Given the description of an element on the screen output the (x, y) to click on. 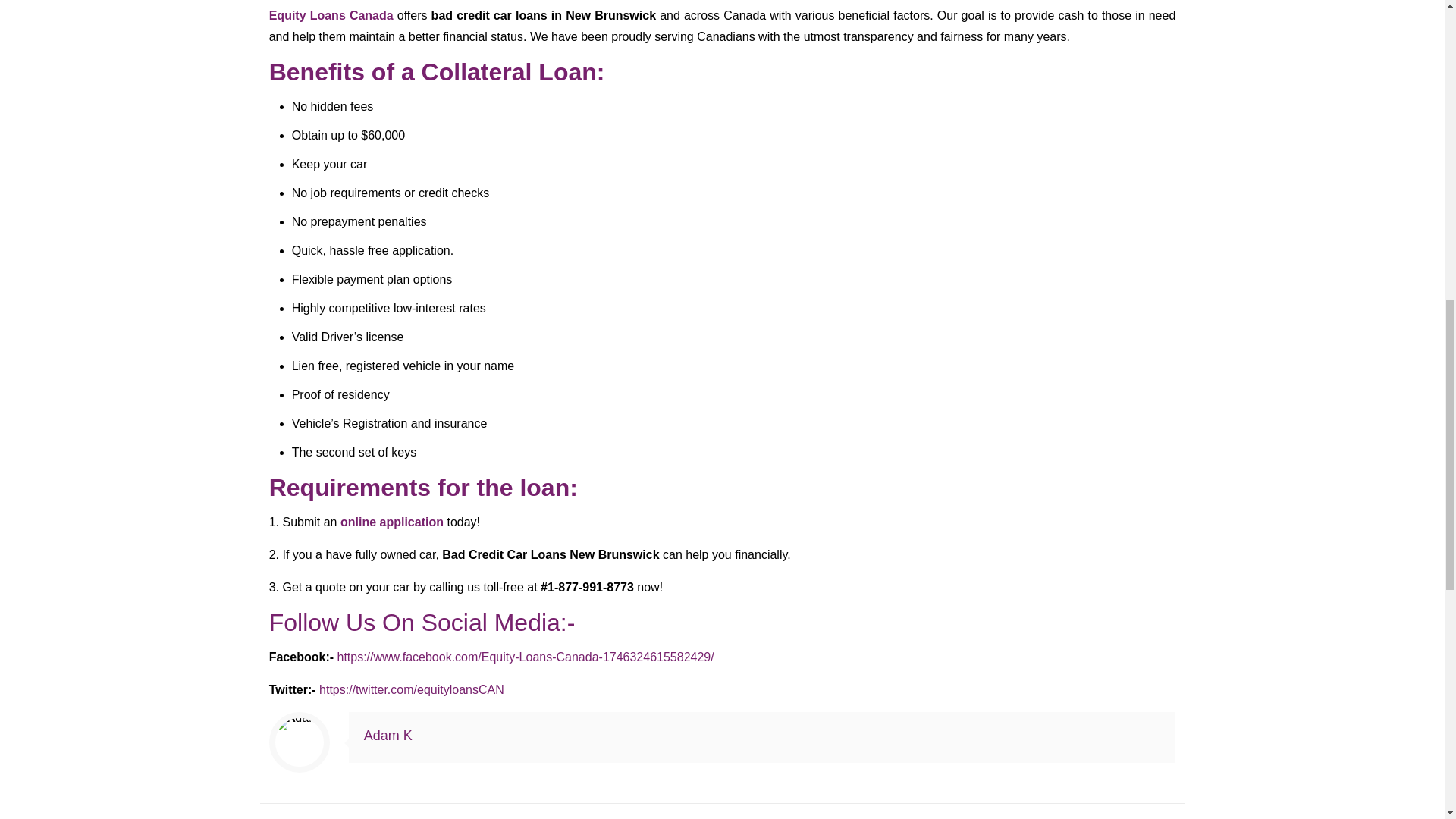
Adam K (388, 735)
online application (393, 521)
Equity Loans Canada (331, 15)
